Given the description of an element on the screen output the (x, y) to click on. 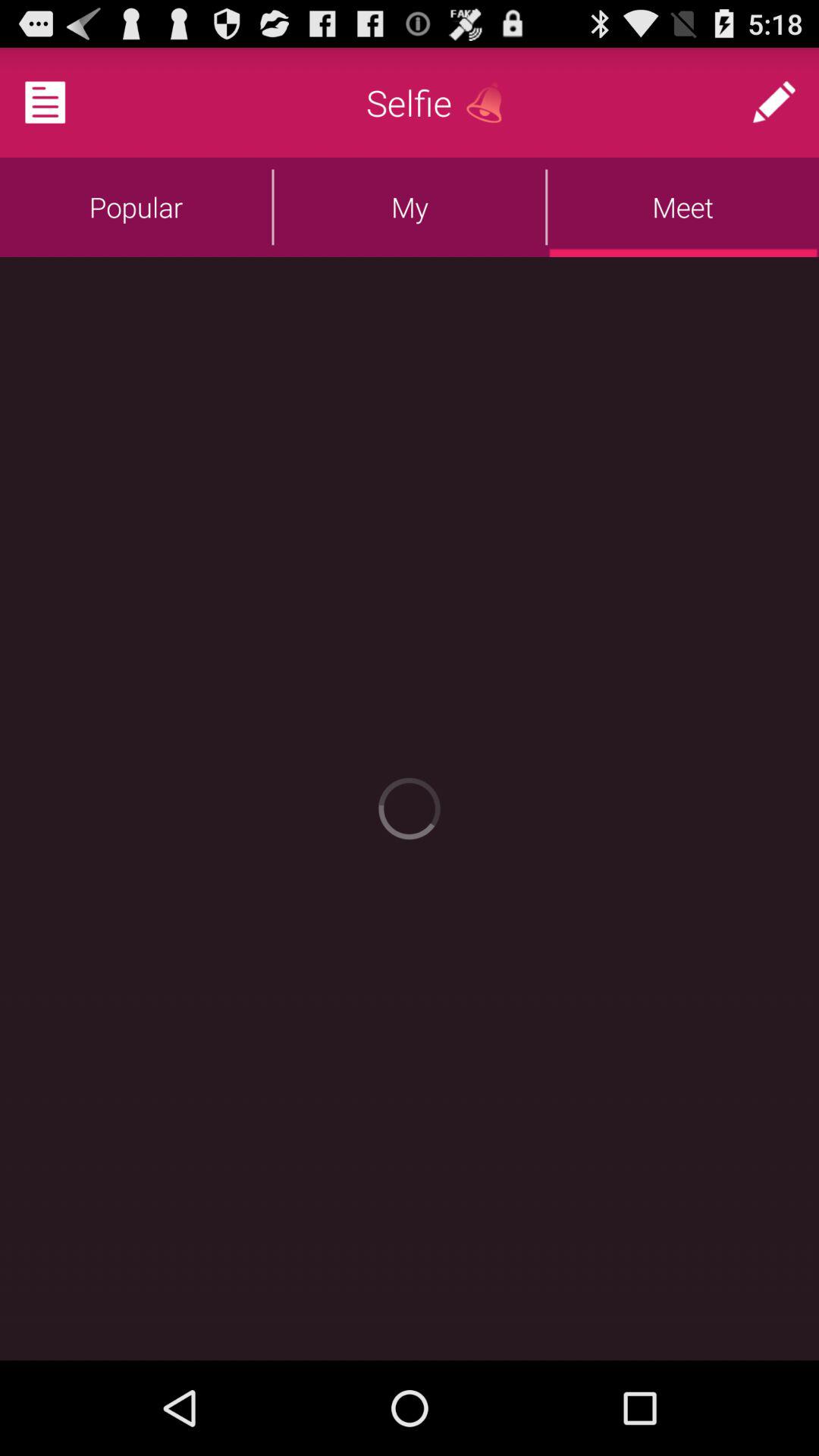
place alarm (489, 102)
